Given the description of an element on the screen output the (x, y) to click on. 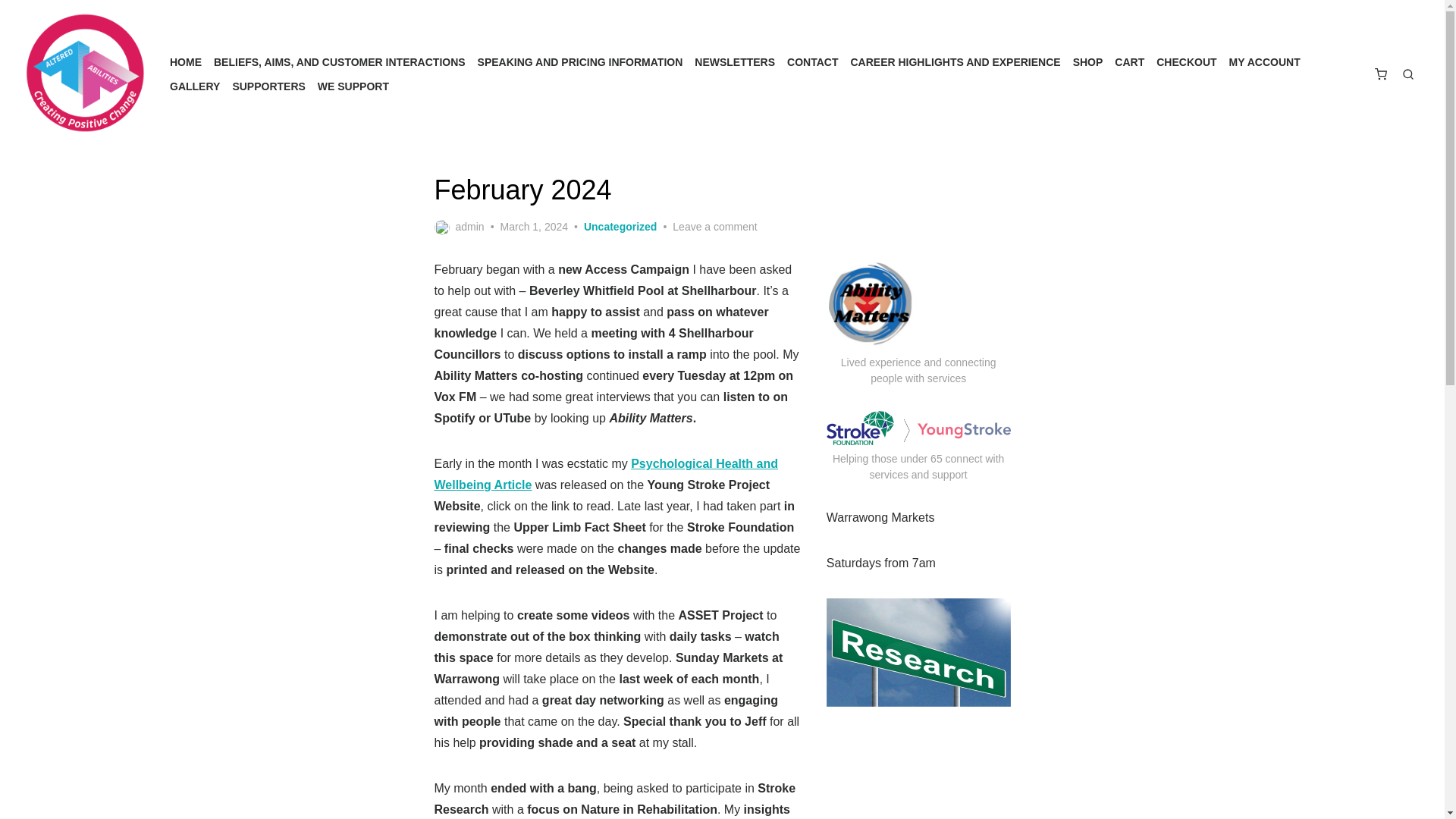
Checkout (1380, 74)
SHOP (1088, 61)
CART (1129, 61)
March 1, 2024 (534, 227)
CAREER HIGHLIGHTS AND EXPERIENCE (954, 61)
admin (458, 227)
SPEAKING AND PRICING INFORMATION (579, 61)
WE SUPPORT (352, 86)
NEWSLETTERS (734, 61)
Uncategorized (619, 227)
HOME (186, 61)
GALLERY (194, 86)
BELIEFS, AIMS, AND CUSTOMER INTERACTIONS (339, 61)
CONTACT (812, 61)
Leave a comment (714, 227)
